Given the description of an element on the screen output the (x, y) to click on. 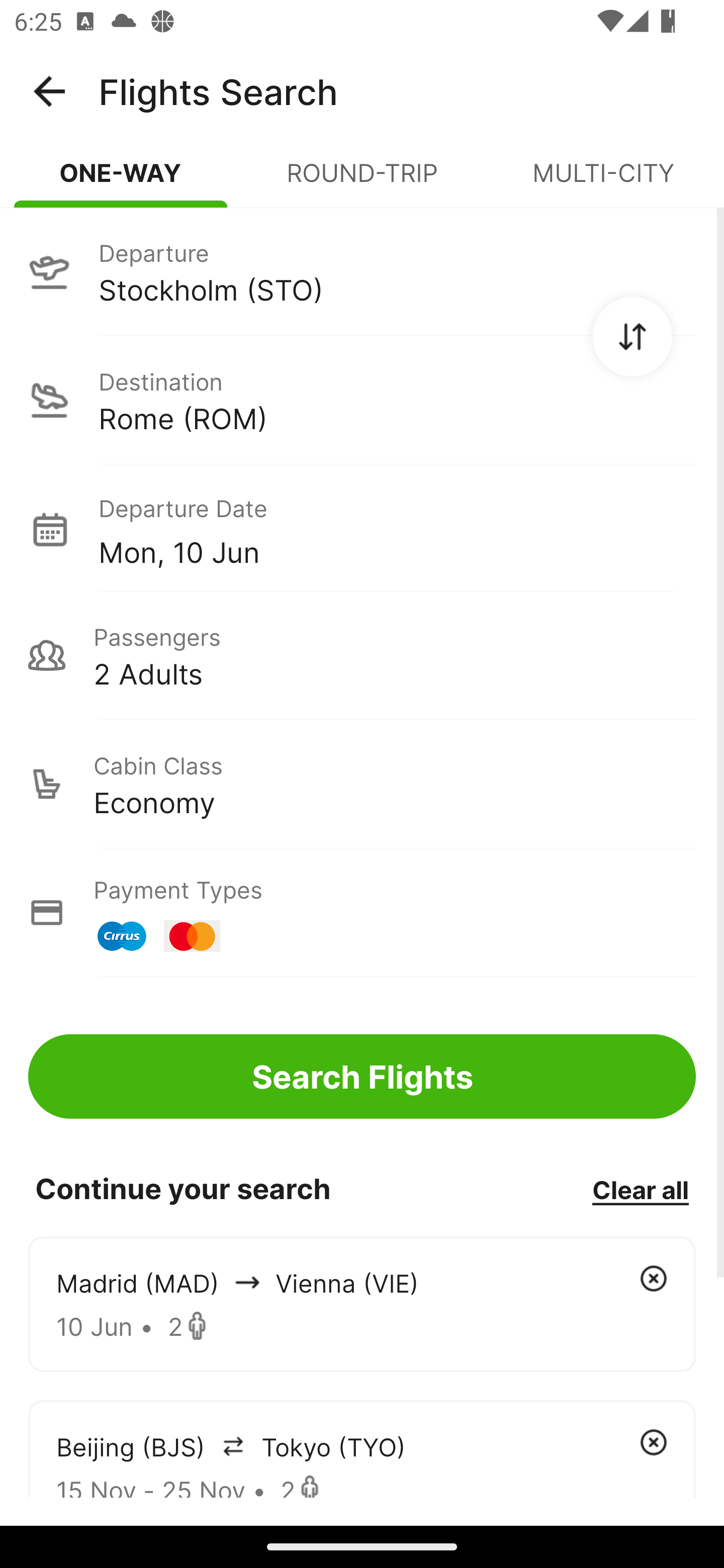
ONE-WAY (120, 180)
ROUND-TRIP (361, 180)
MULTI-CITY (603, 180)
Departure Stockholm (STO) (362, 270)
Destination Rome (ROM) (362, 400)
Departure Date Mon, 10 Jun (396, 528)
Passengers 2 Adults (362, 655)
Cabin Class Economy (362, 783)
Payment Types (362, 912)
Search Flights (361, 1075)
Clear all (640, 1189)
Madrid (MAD)  arrowIcon  Vienna (VIE) 10 Jun •  2  (361, 1303)
